Given the description of an element on the screen output the (x, y) to click on. 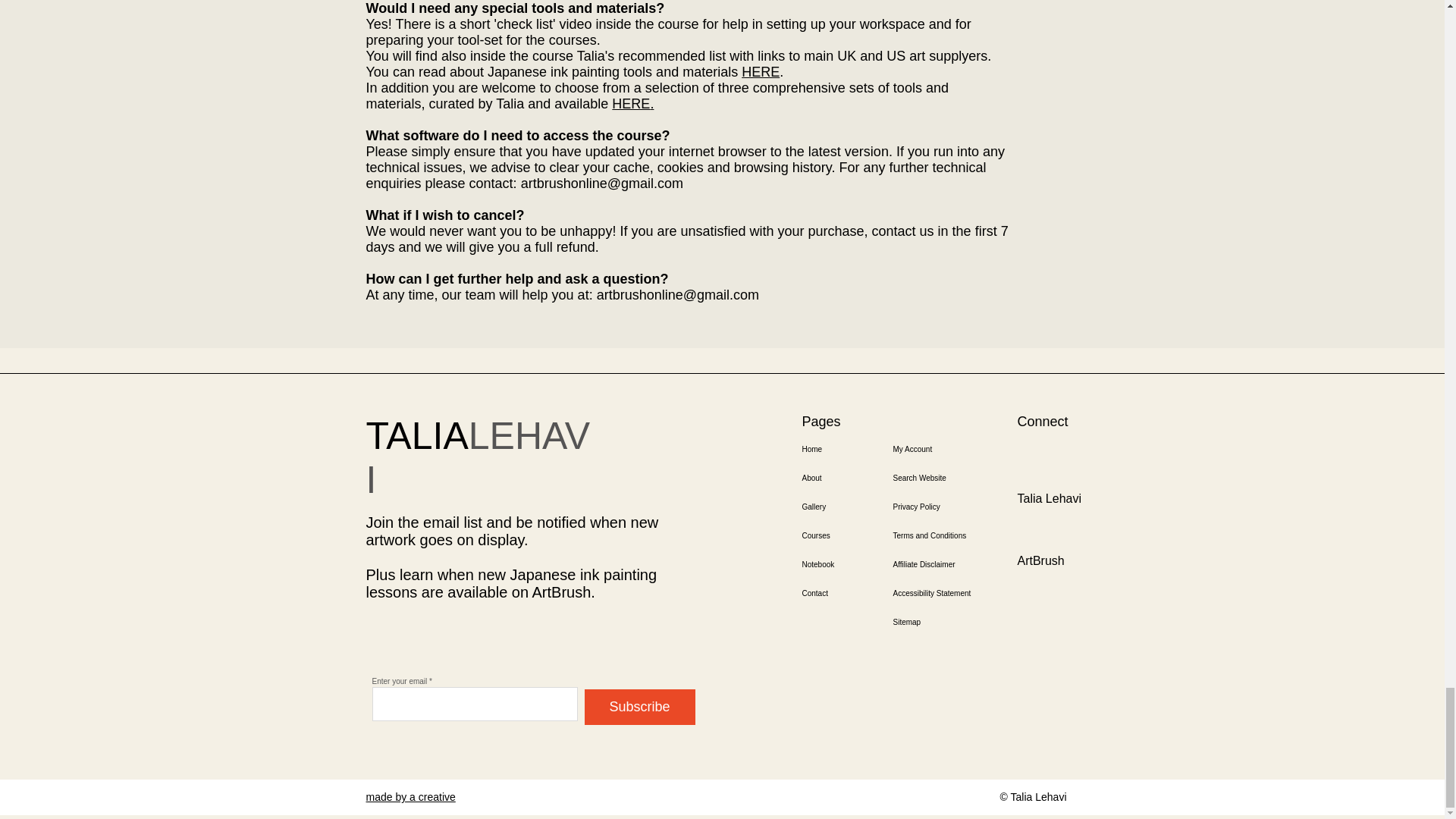
HERE (630, 103)
Terms and Conditions (946, 535)
HERE (759, 71)
Gallery (847, 507)
Privacy Policy (946, 507)
About (847, 478)
Contact (847, 593)
Courses (847, 535)
Accessibility Statement (946, 593)
Subscribe (638, 706)
